Given the description of an element on the screen output the (x, y) to click on. 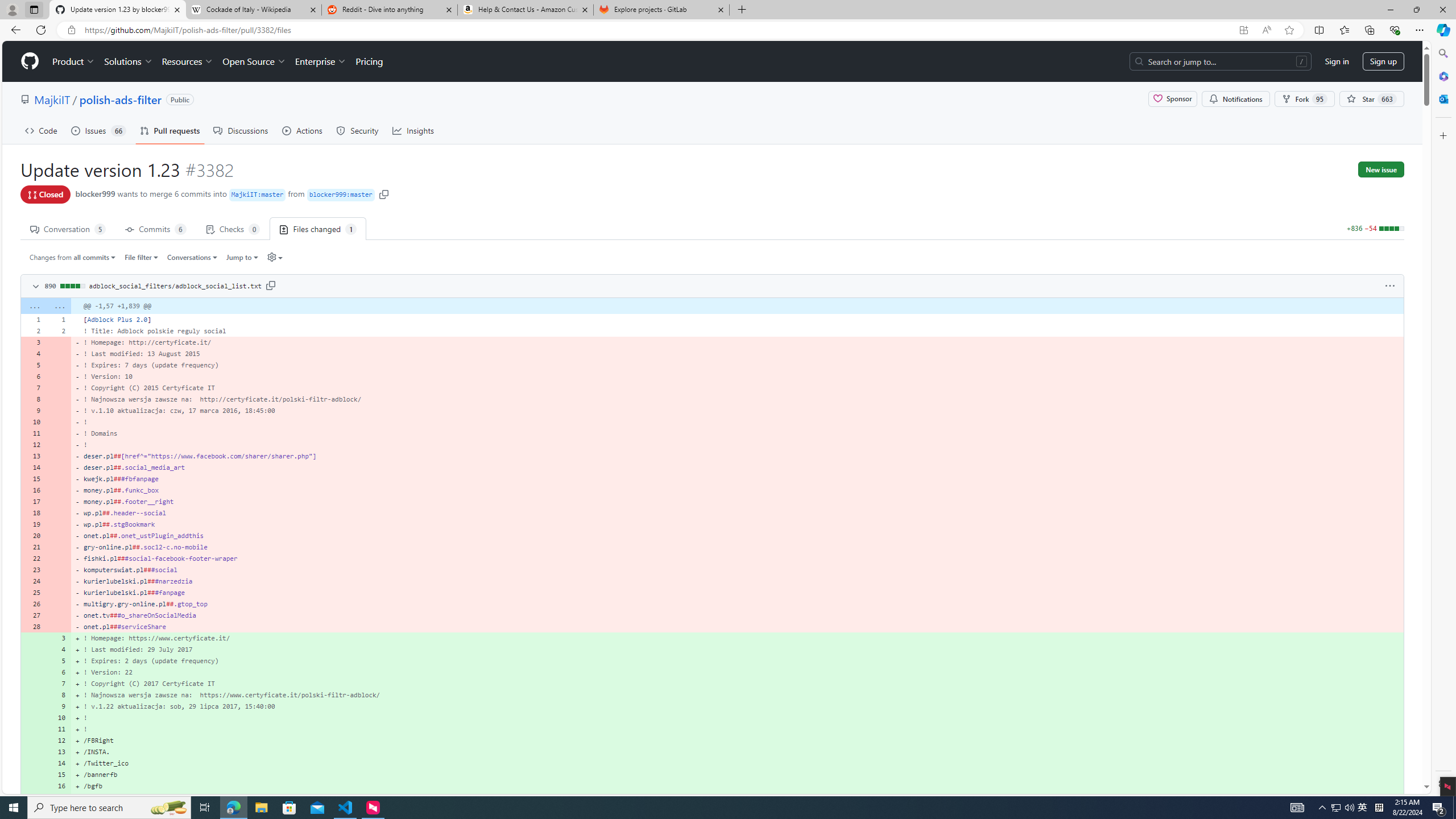
- onet.pl###serviceShare (737, 626)
You must be signed in to star a repository (1371, 98)
- ! v.1.10 aktualizacja: czw, 17 marca 2016, 18:45:00  (737, 410)
Jump to (241, 257)
Insights (413, 130)
Actions (302, 130)
Product (74, 60)
+ /Twitter_ico  (737, 763)
blocker999 (95, 193)
Diff settings (274, 257)
[Adblock Plus 2.0] (737, 319)
